Given the description of an element on the screen output the (x, y) to click on. 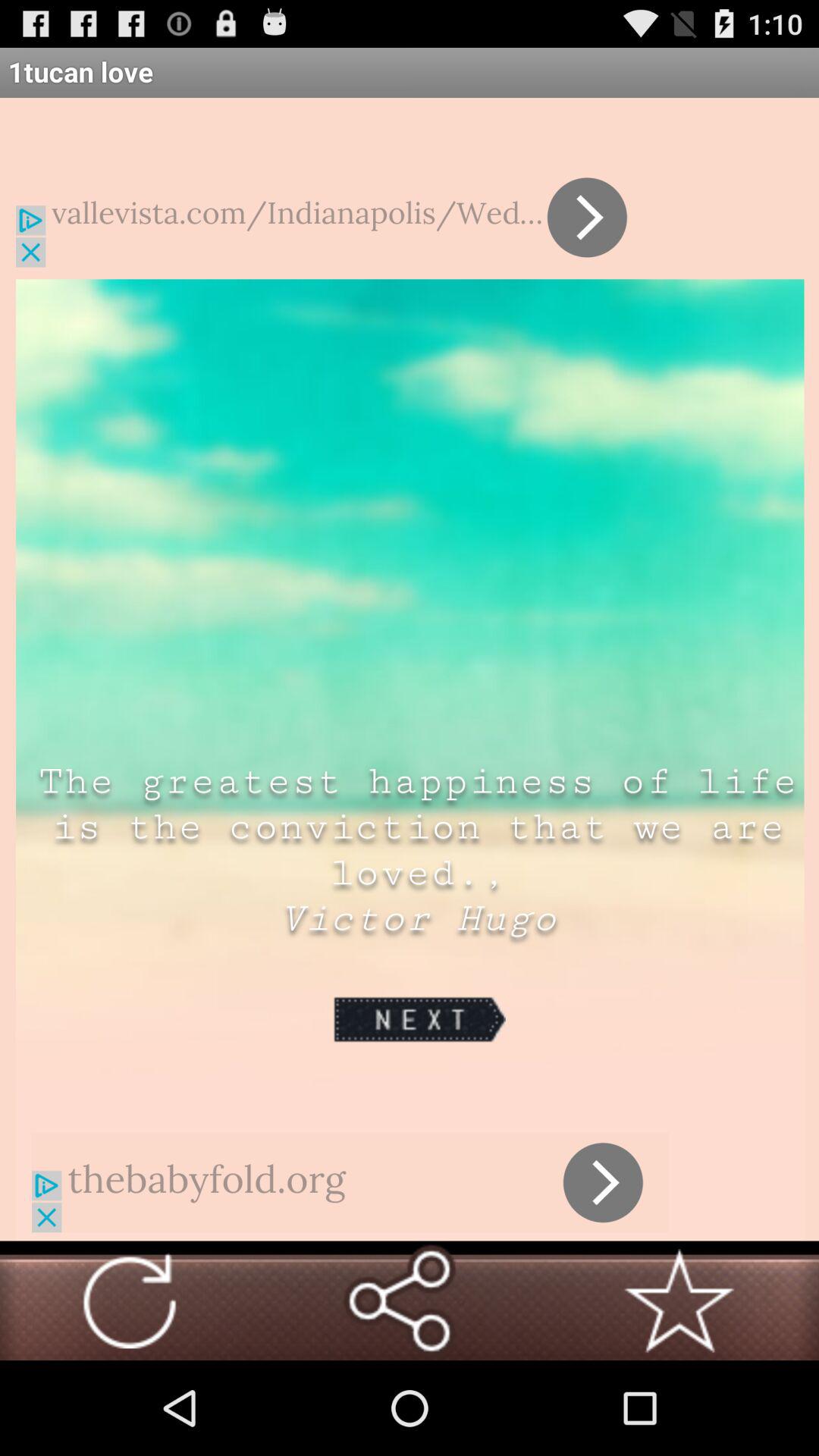
click arrow button (129, 1300)
